Given the description of an element on the screen output the (x, y) to click on. 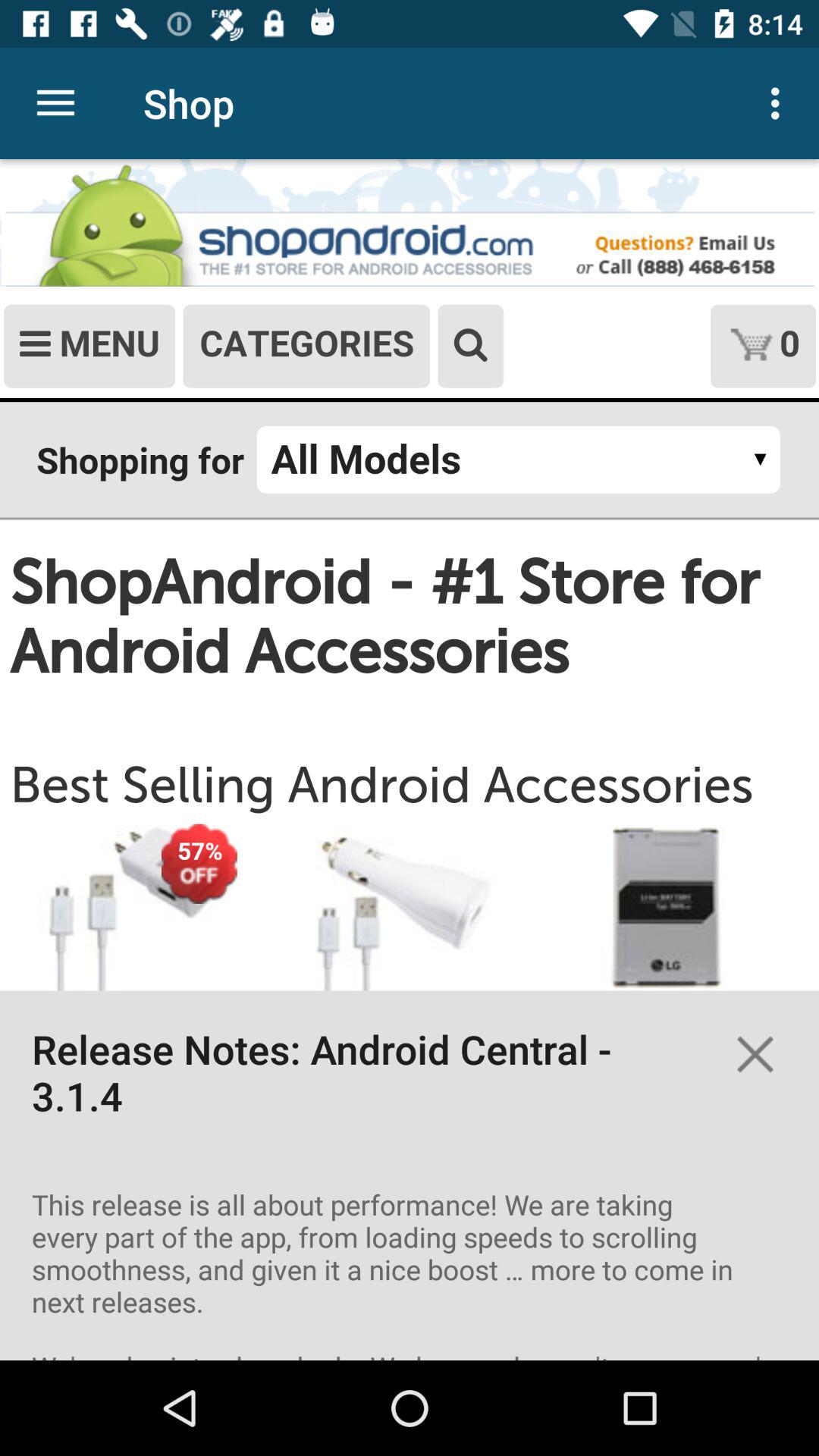
select screen (409, 759)
